Given the description of an element on the screen output the (x, y) to click on. 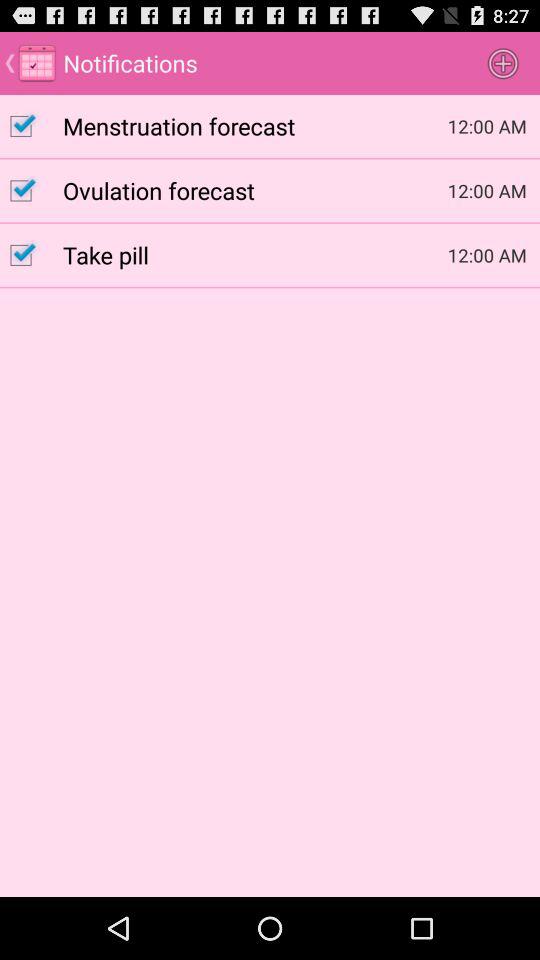
check option (31, 190)
